Given the description of an element on the screen output the (x, y) to click on. 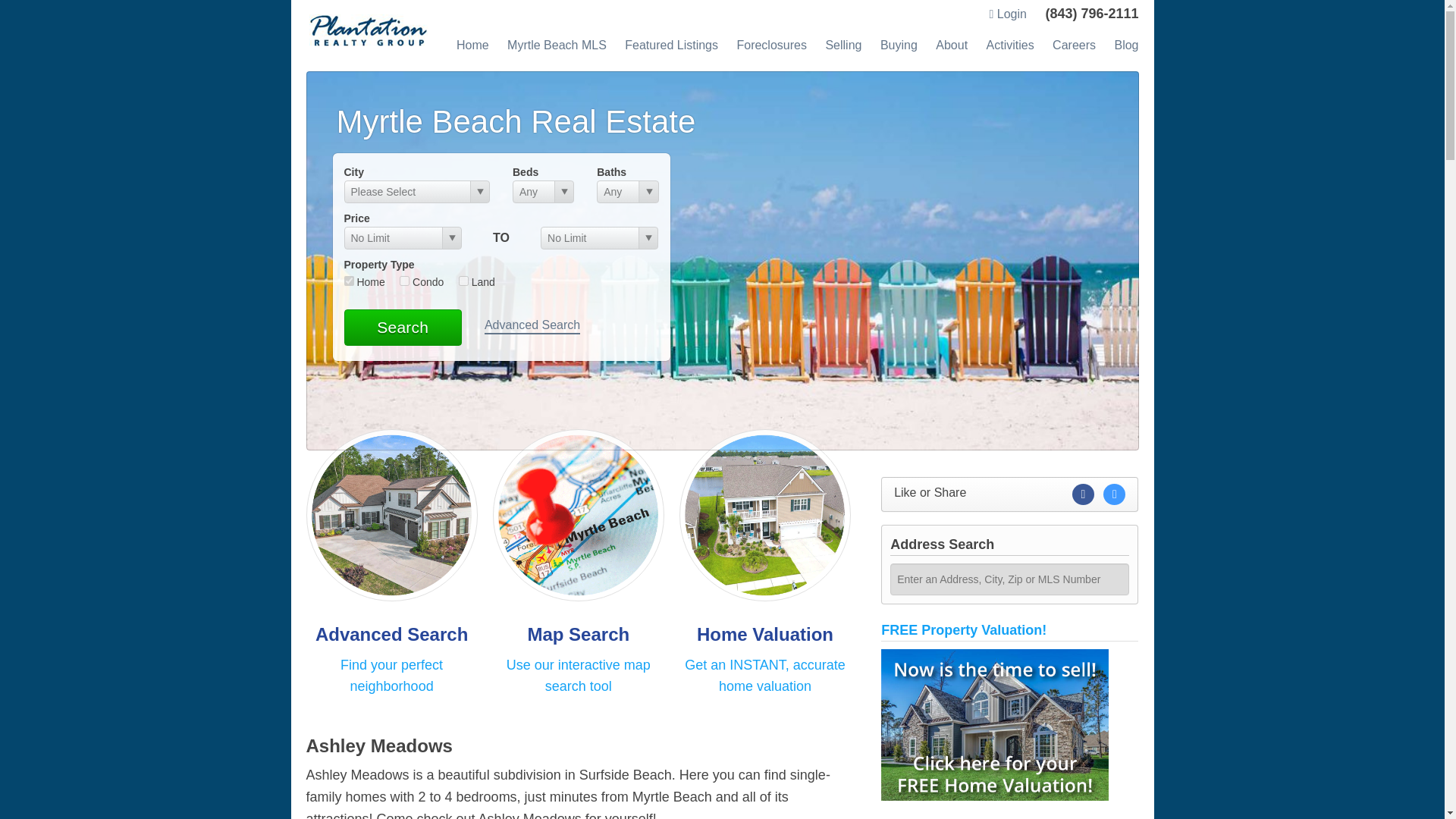
Map Search (577, 634)
Foreclosures (771, 44)
Home (473, 44)
Search (402, 327)
FREE Property Valuation! (963, 630)
con (403, 280)
Login (1007, 13)
Careers (1074, 44)
Advanced Search (531, 326)
res (348, 280)
